Given the description of an element on the screen output the (x, y) to click on. 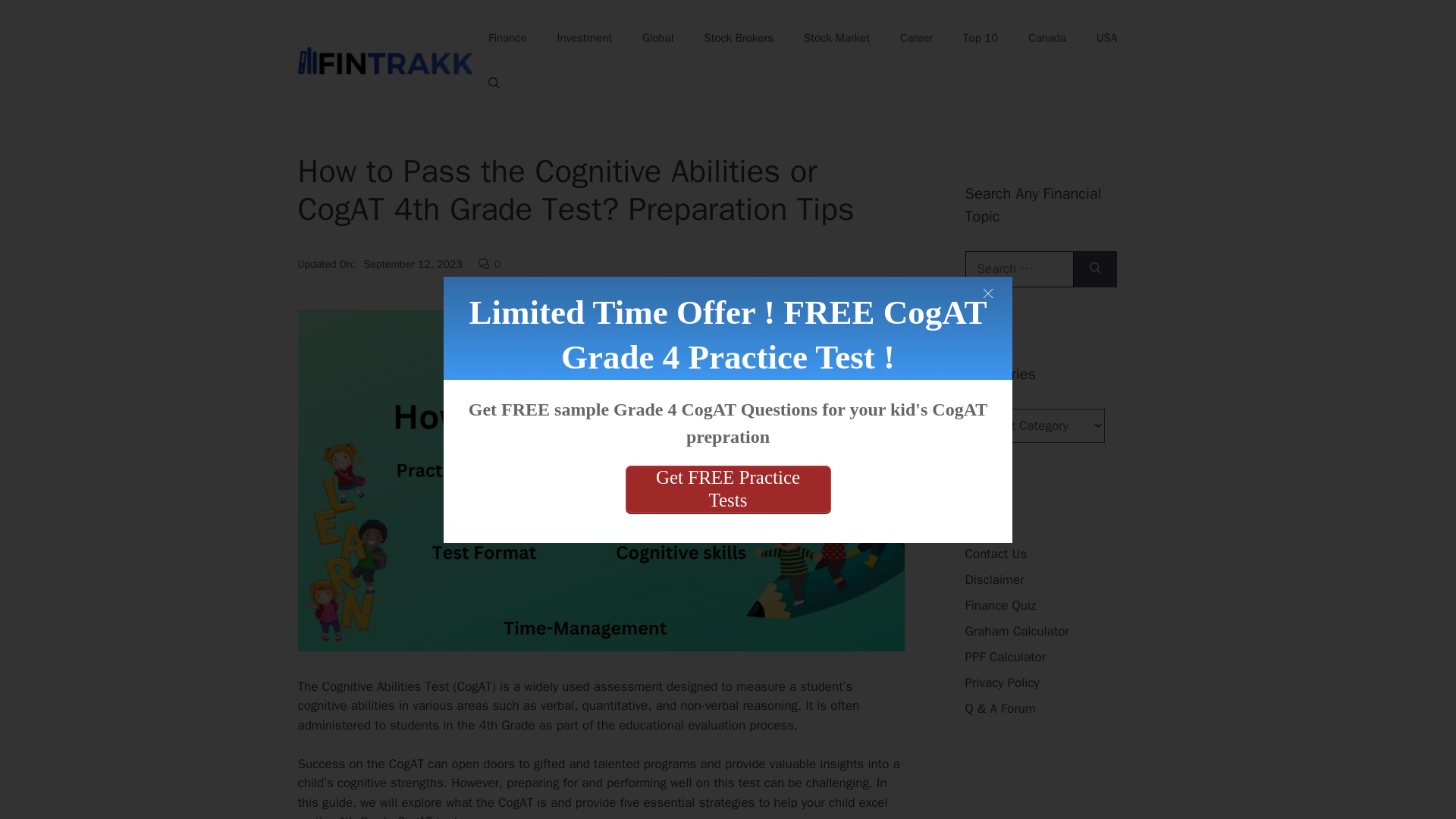
Finance (507, 37)
Investment (584, 37)
Fintrakk (385, 59)
Top 10 (980, 37)
Career (916, 37)
Search for: (1018, 268)
Stock Brokers (738, 37)
USA (1106, 37)
Canada (1047, 37)
Fintrakk (385, 60)
Stock Market (837, 37)
Global (657, 37)
